Given the description of an element on the screen output the (x, y) to click on. 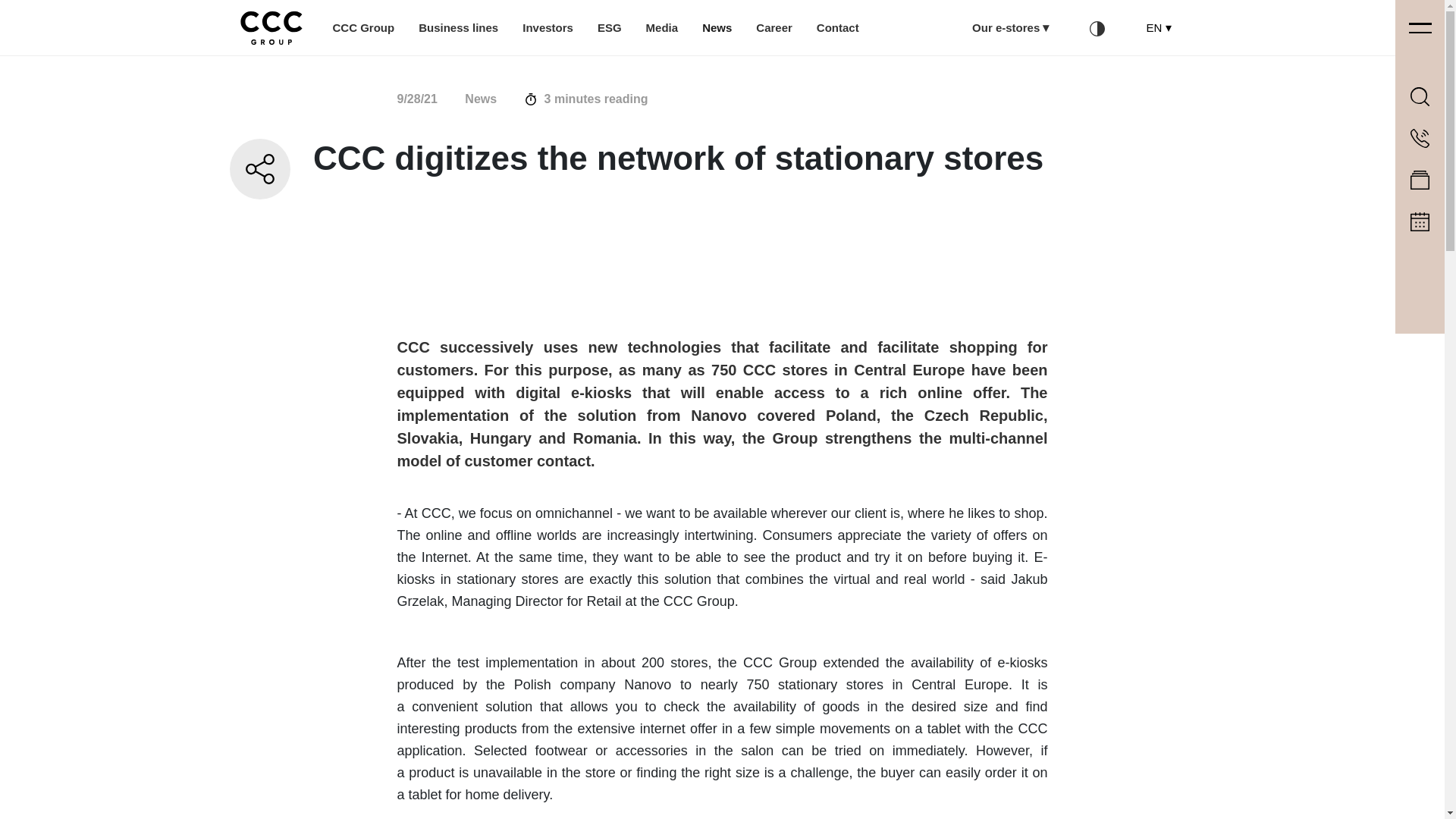
CCC Group (363, 28)
Investors (548, 28)
Business lines (458, 28)
